Given the description of an element on the screen output the (x, y) to click on. 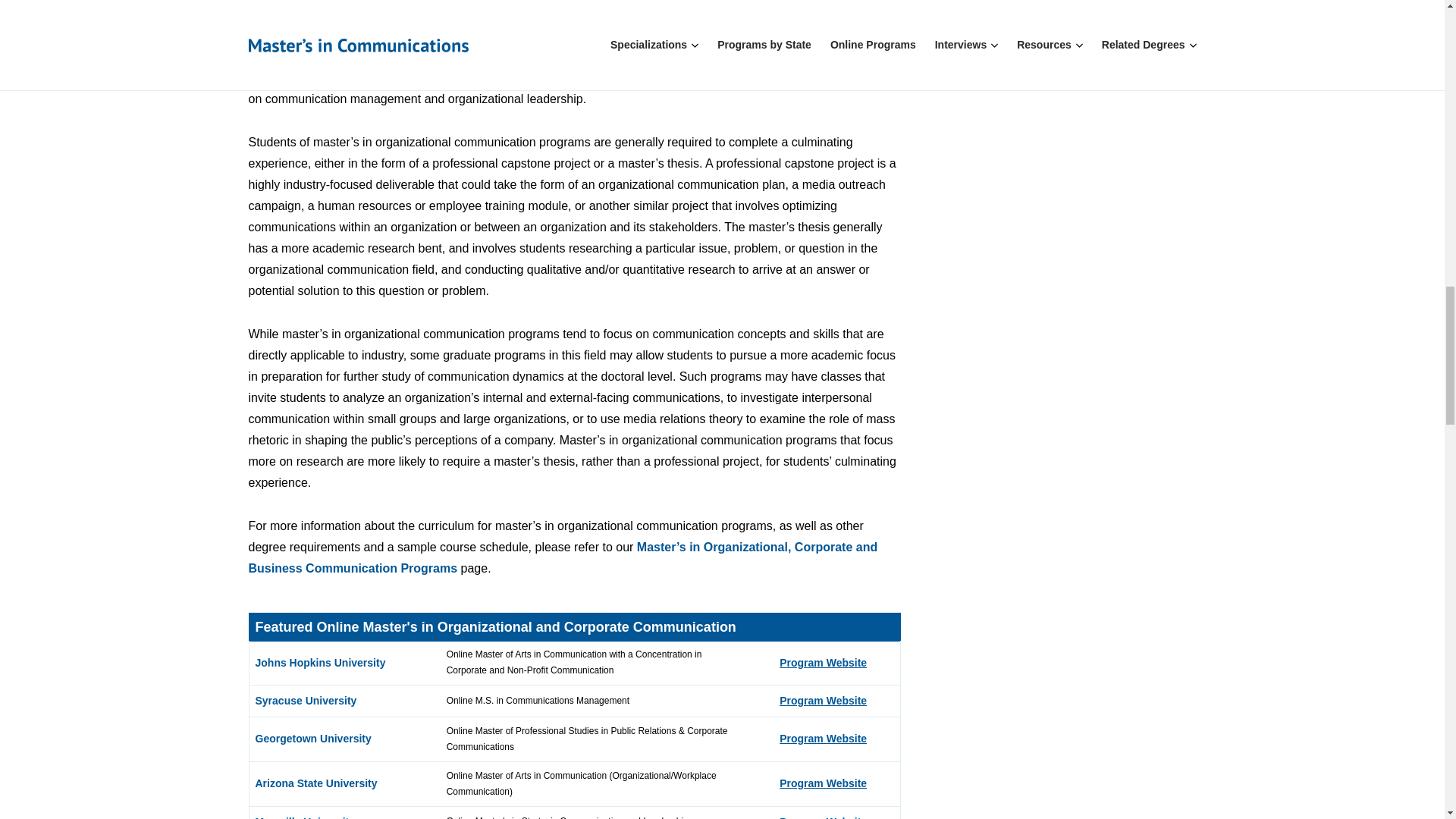
Visit scs.georgetown.edu (822, 738)
To learn more visit onlinegrad.syracuse.edu (822, 700)
To learn more visit online.maryville.edu (822, 817)
To learn more visit asuonline.asu.edu (822, 783)
To learn more visit advanced.jhu.edu (822, 662)
